Given the description of an element on the screen output the (x, y) to click on. 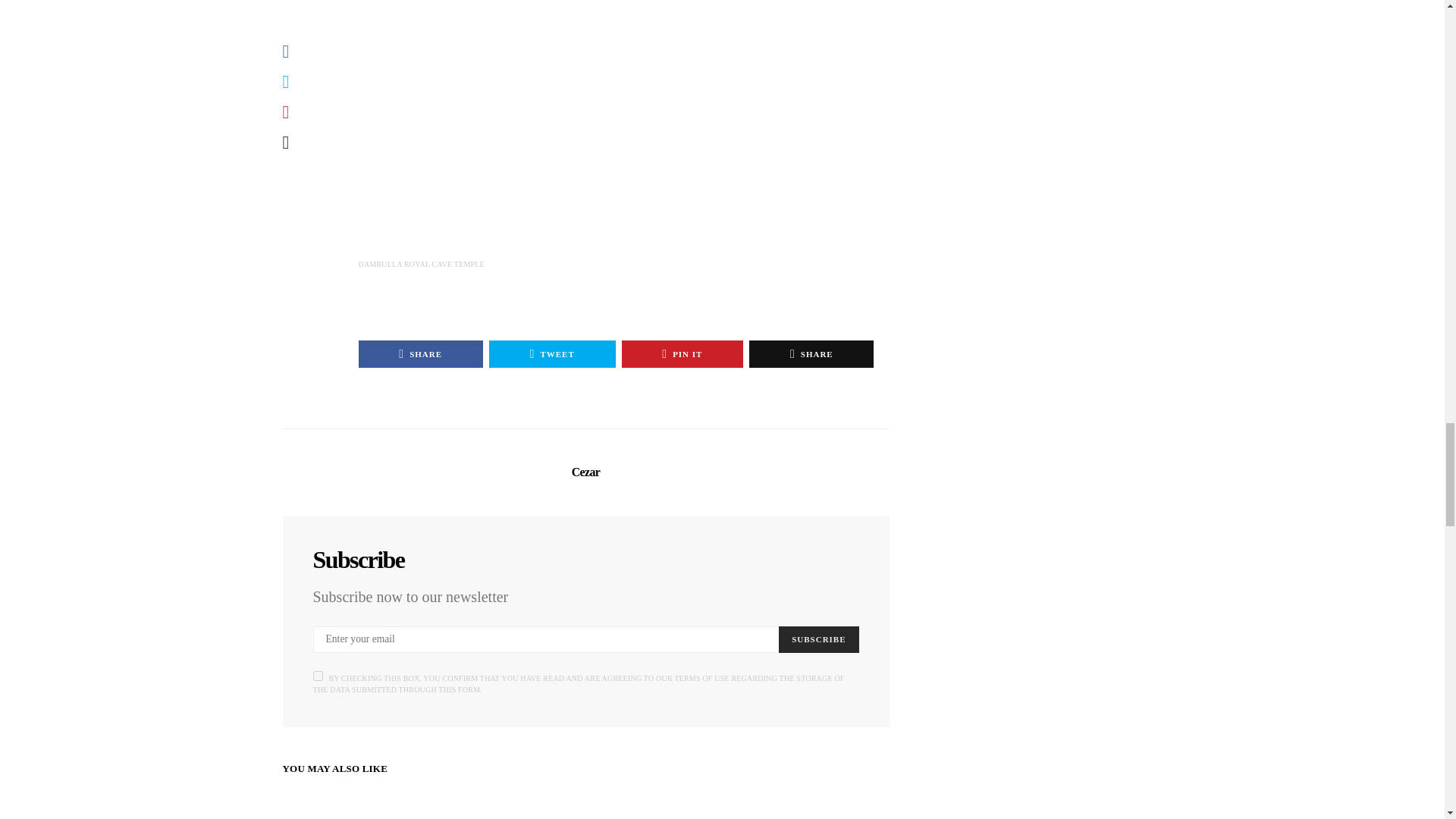
on (317, 675)
